Given the description of an element on the screen output the (x, y) to click on. 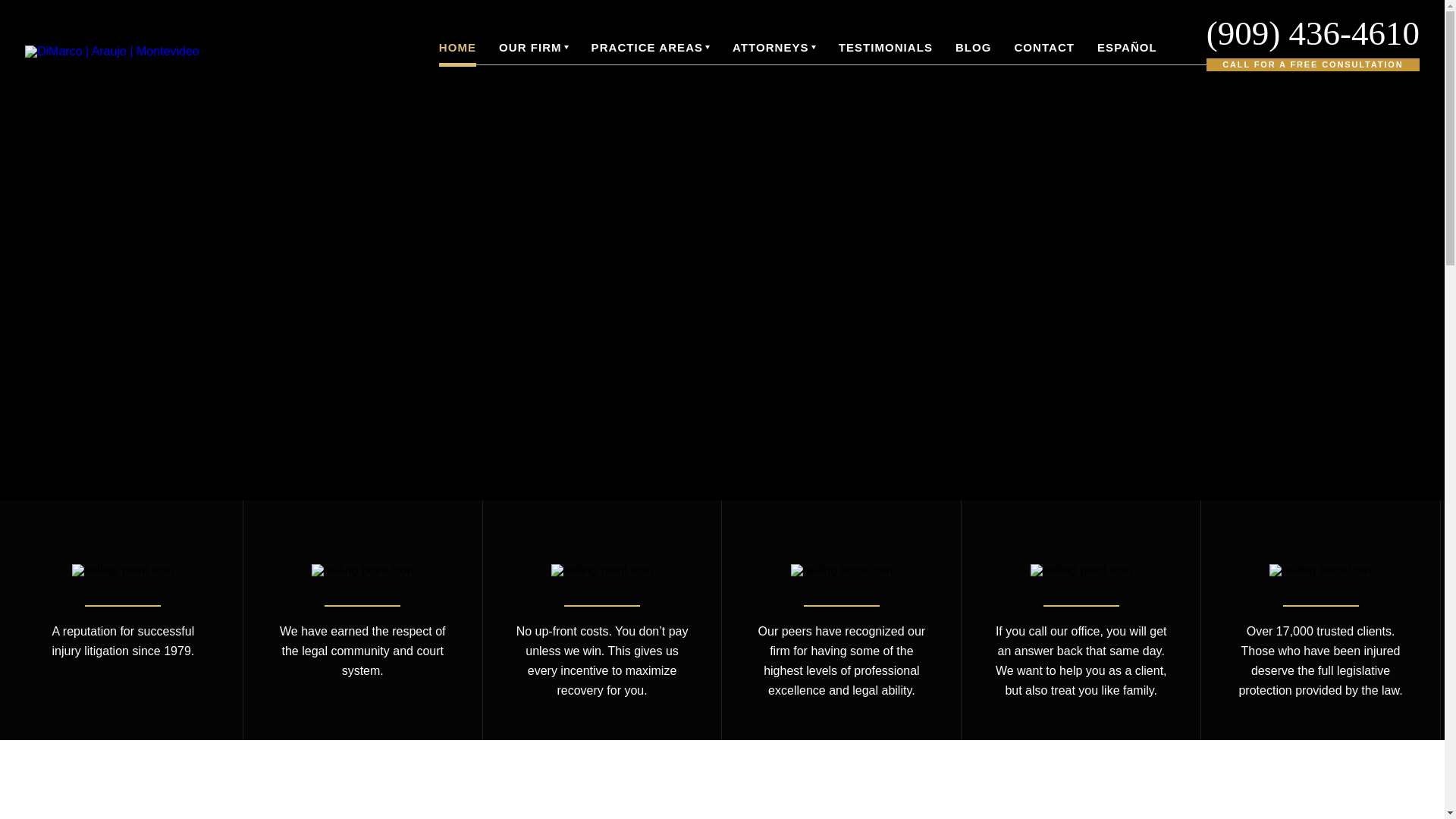
TESTIMONIALS (885, 46)
ATTORNEYS (773, 46)
CONTACT (1043, 46)
BLOG (973, 46)
OUR FIRM (534, 46)
PRACTICE AREAS (650, 46)
HOME (457, 46)
